Given the description of an element on the screen output the (x, y) to click on. 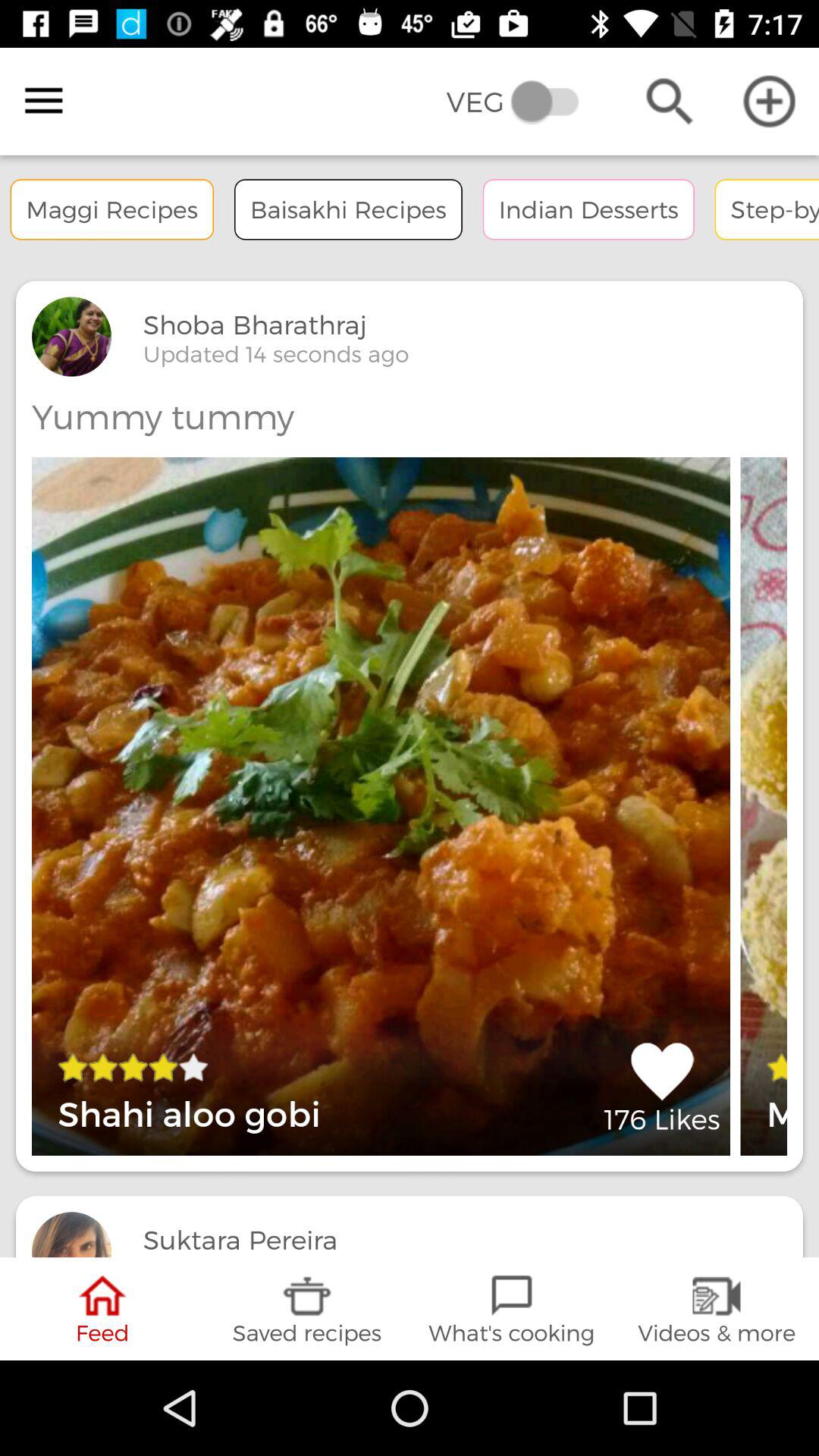
turn on the item next to the veg (43, 101)
